Given the description of an element on the screen output the (x, y) to click on. 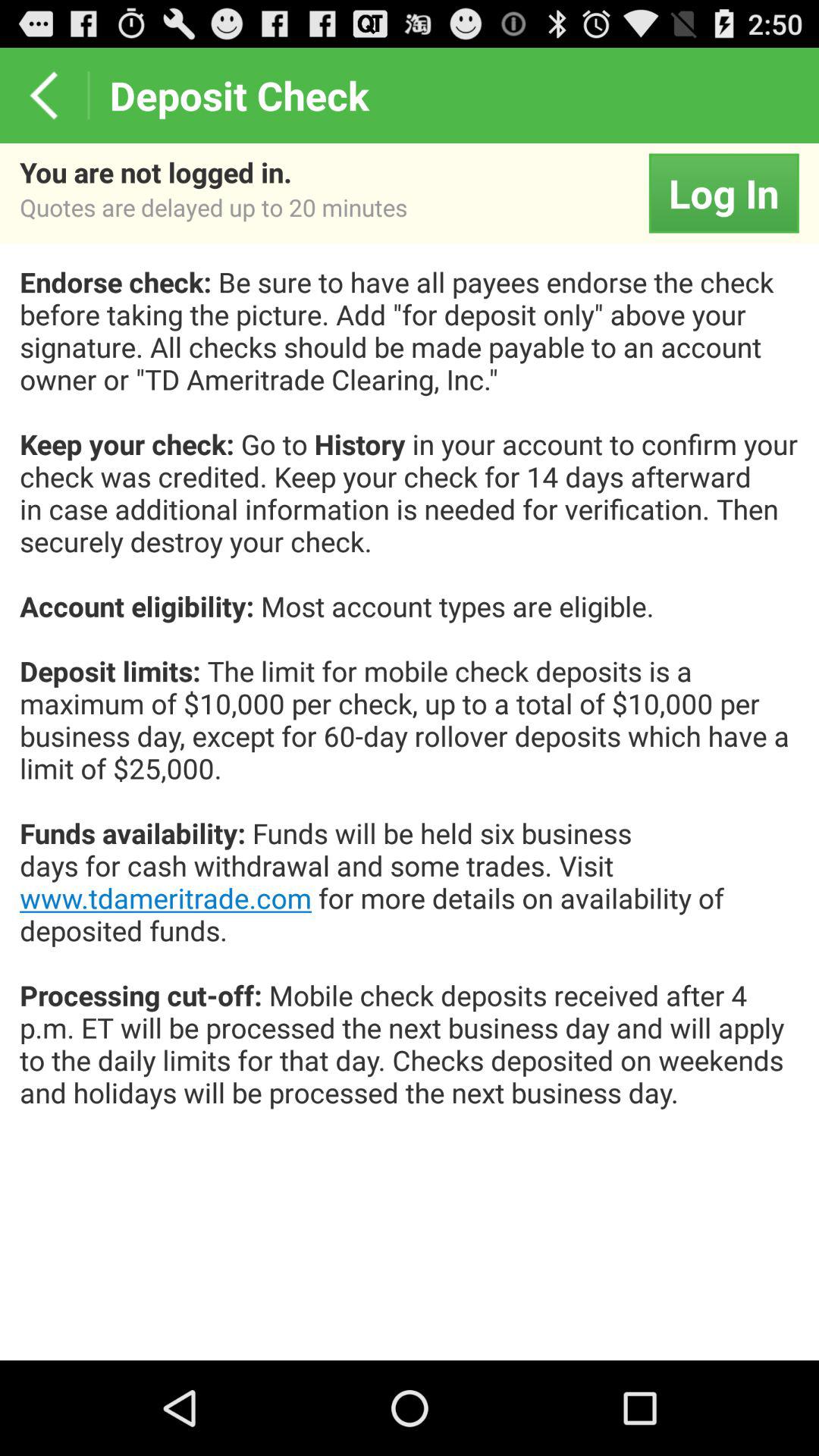
tap endorse check be app (409, 703)
